Given the description of an element on the screen output the (x, y) to click on. 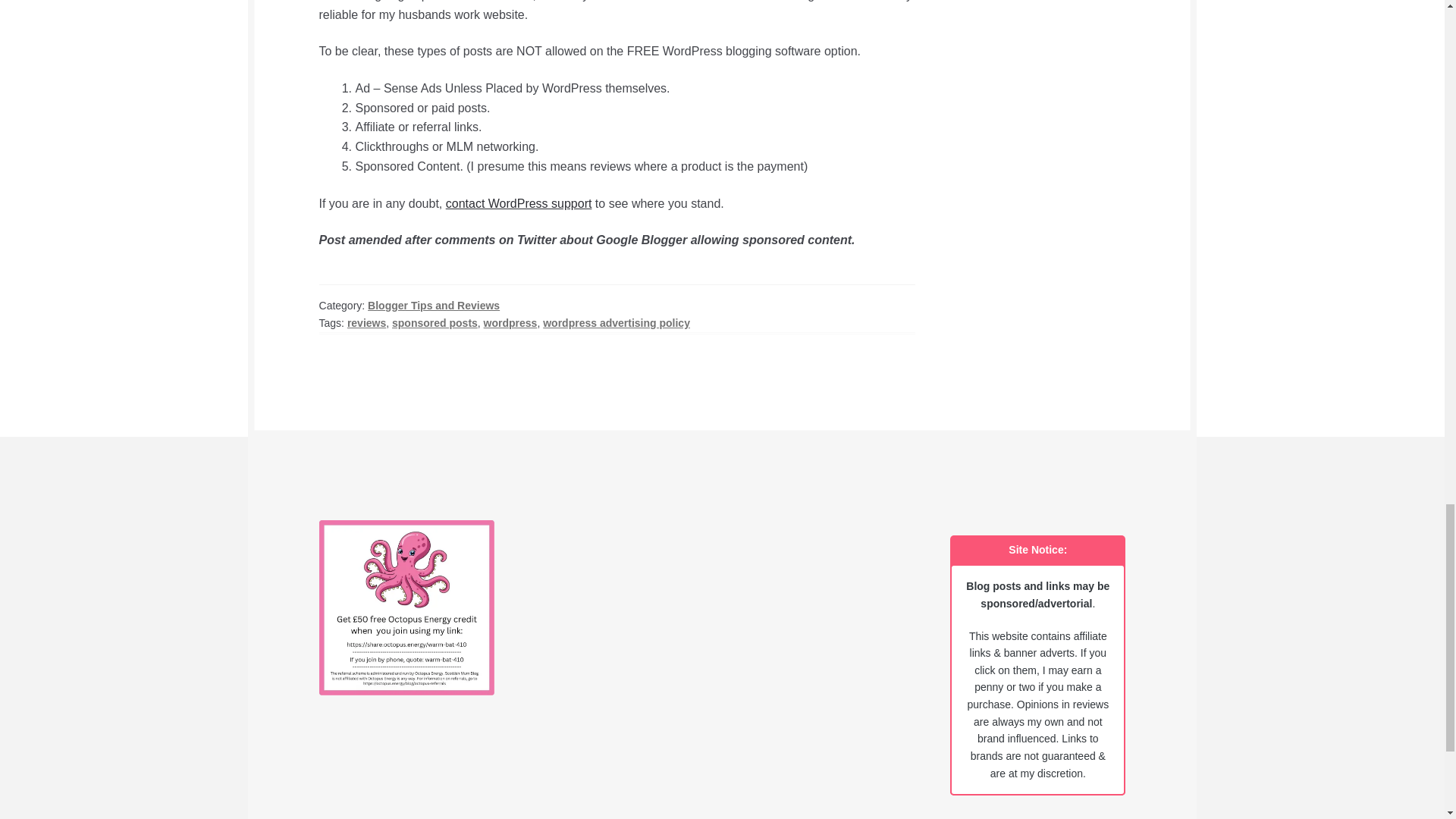
Contact Support (518, 203)
